Given the description of an element on the screen output the (x, y) to click on. 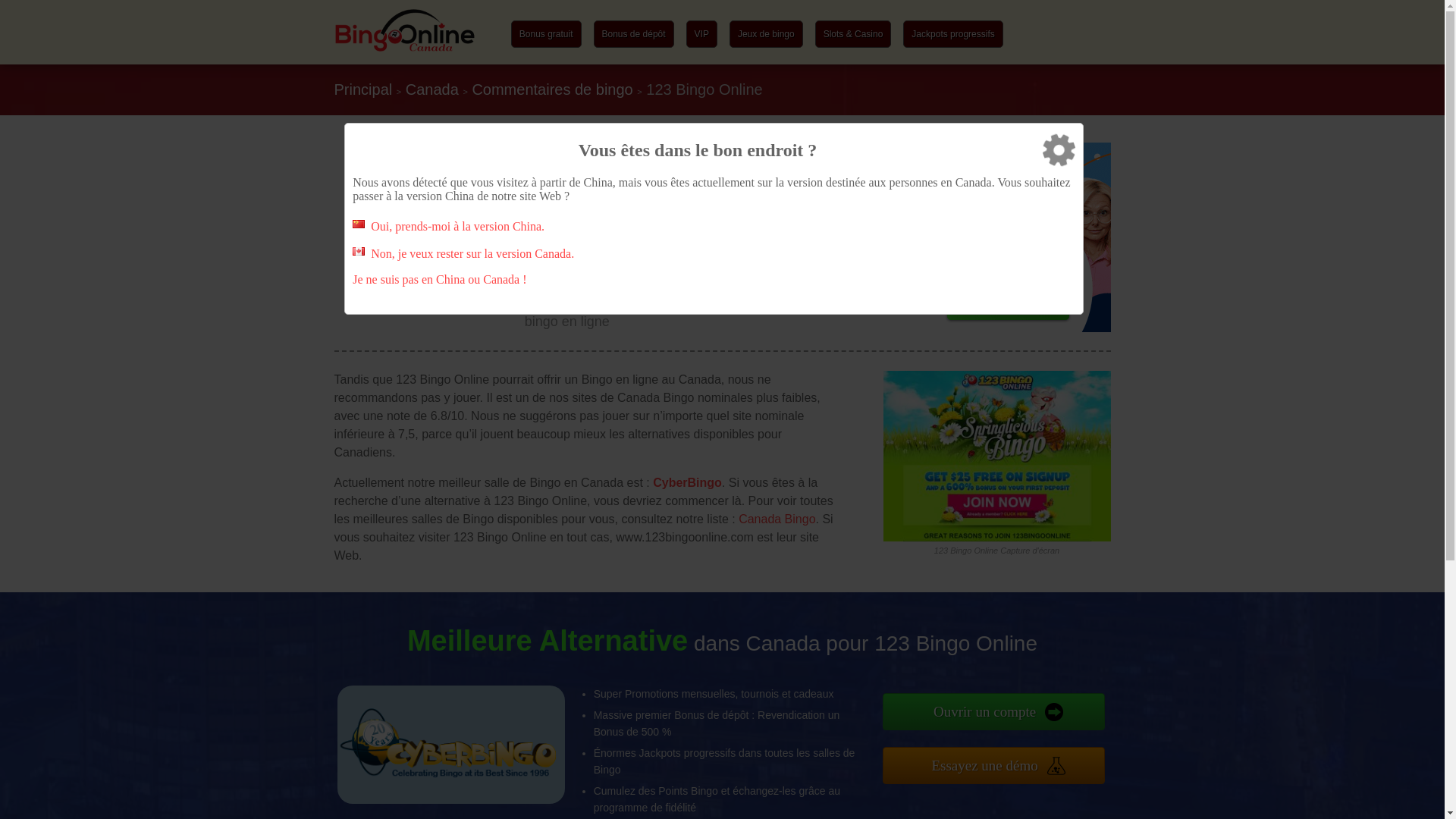
Jackpots progressifs Element type: text (952, 33)
Ouvrir un compte Element type: text (993, 711)
Principal Element type: text (362, 89)
Non, je veux rester sur la version Canada. Element type: text (472, 253)
VIP Element type: text (701, 33)
Canada Bingo Element type: text (776, 518)
Commentaires de bingo Element type: text (551, 89)
CyberBingo Element type: text (686, 482)
Jeux de bingo Element type: text (765, 33)
bonus Bingo Canada Element type: hover (404, 48)
Je ne suis pas en China ou Canada ! Element type: text (439, 279)
Slots & Casino Element type: text (853, 33)
bingo screen shot Element type: hover (996, 455)
Bonus gratuit Element type: text (546, 33)
Canada Element type: text (431, 89)
